Given the description of an element on the screen output the (x, y) to click on. 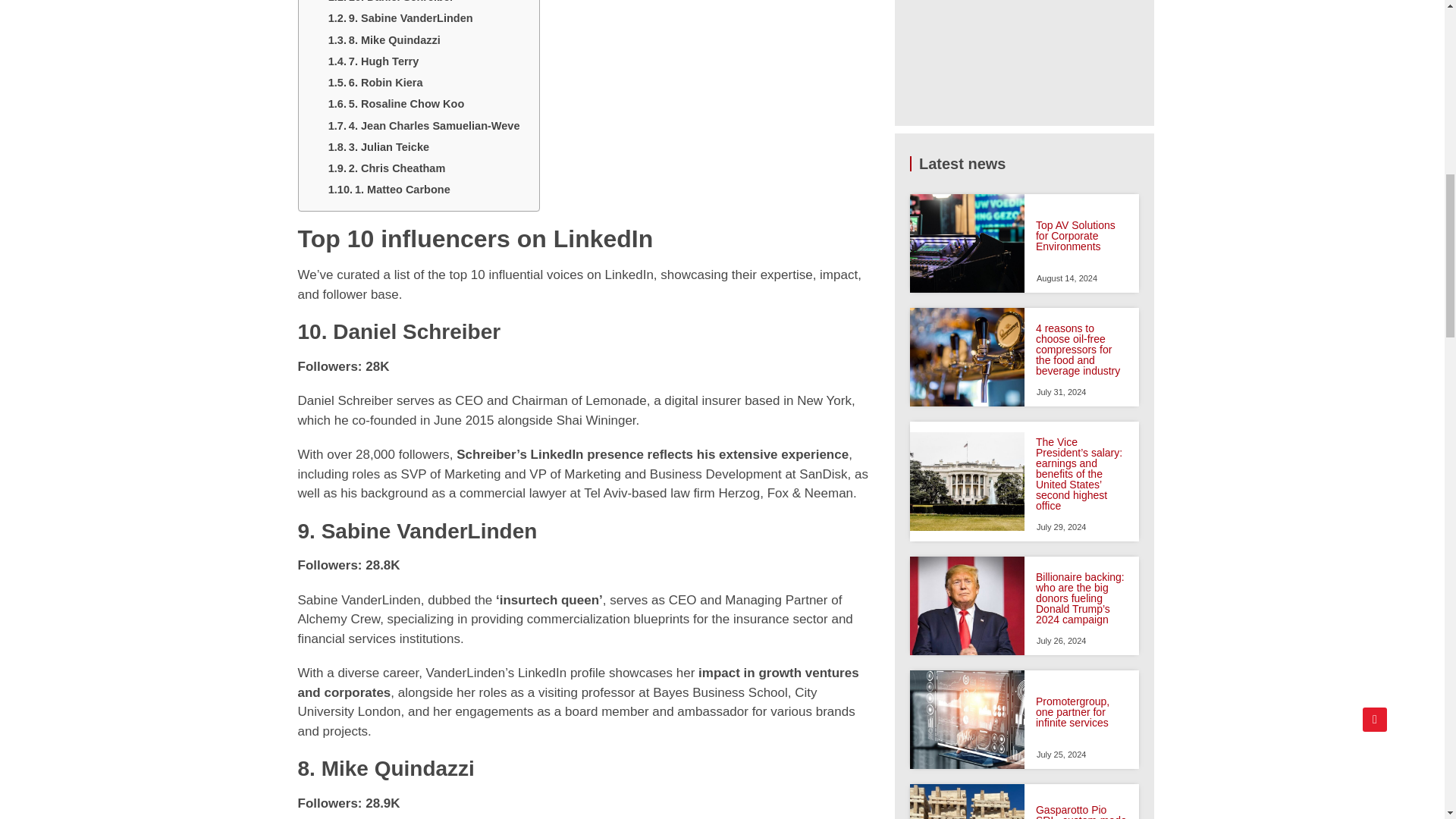
7. Hugh Terry (373, 63)
9. Sabine VanderLinden (400, 20)
8. Mike Quindazzi (384, 42)
9. Sabine VanderLinden (400, 20)
2. Chris Cheatham (386, 169)
10. Daniel Schreiber (391, 4)
1. Matteo Carbone (389, 191)
10. Daniel Schreiber (391, 4)
4. Jean Charles Samuelian-Weve (424, 127)
6. Robin Kiera (375, 84)
